Given the description of an element on the screen output the (x, y) to click on. 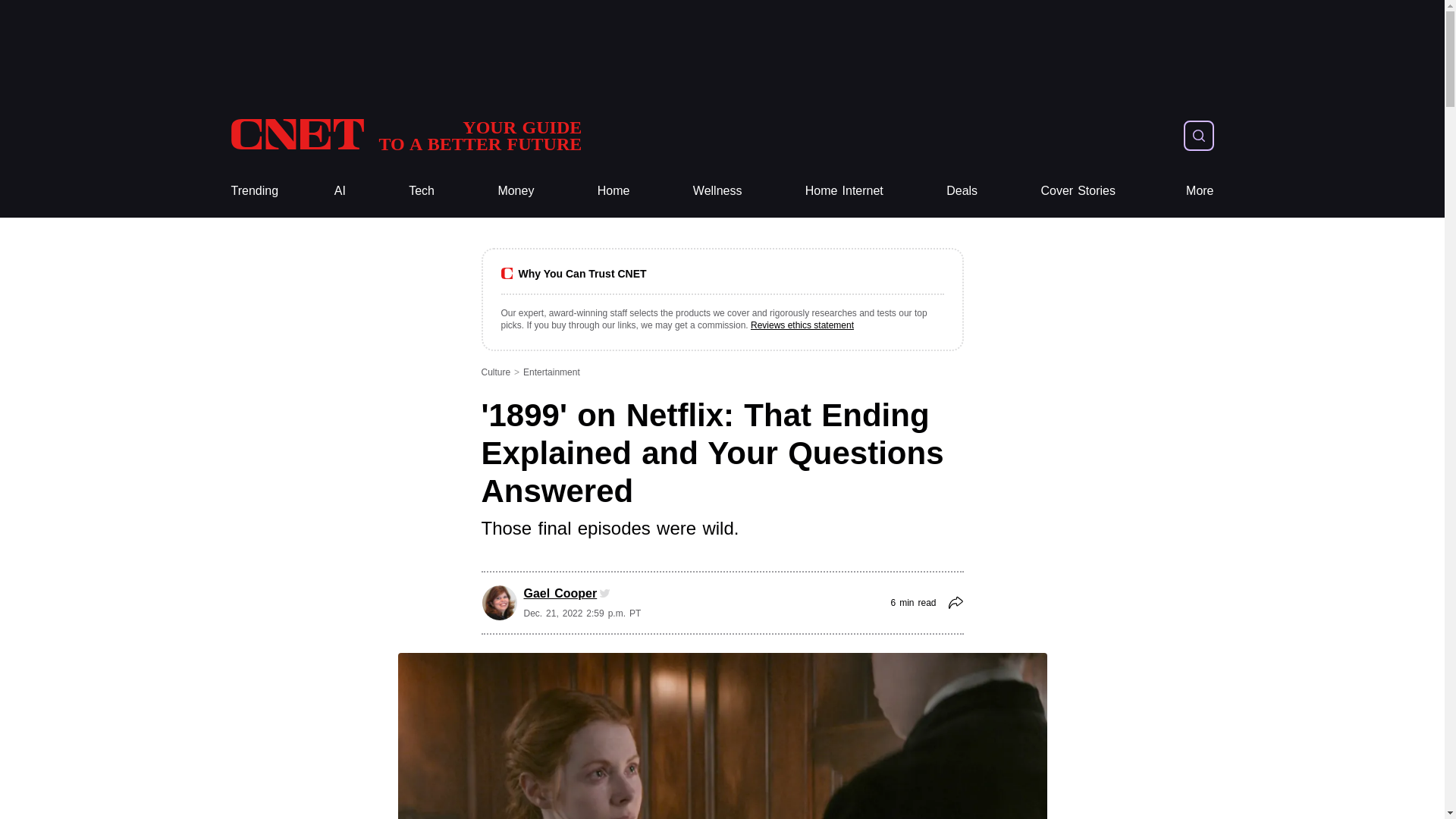
Trending (254, 190)
Cover Stories (1078, 190)
Tech (421, 190)
Home Internet (405, 135)
Money (844, 190)
Trending (515, 190)
More (254, 190)
Home Internet (1199, 190)
Home (844, 190)
